Given the description of an element on the screen output the (x, y) to click on. 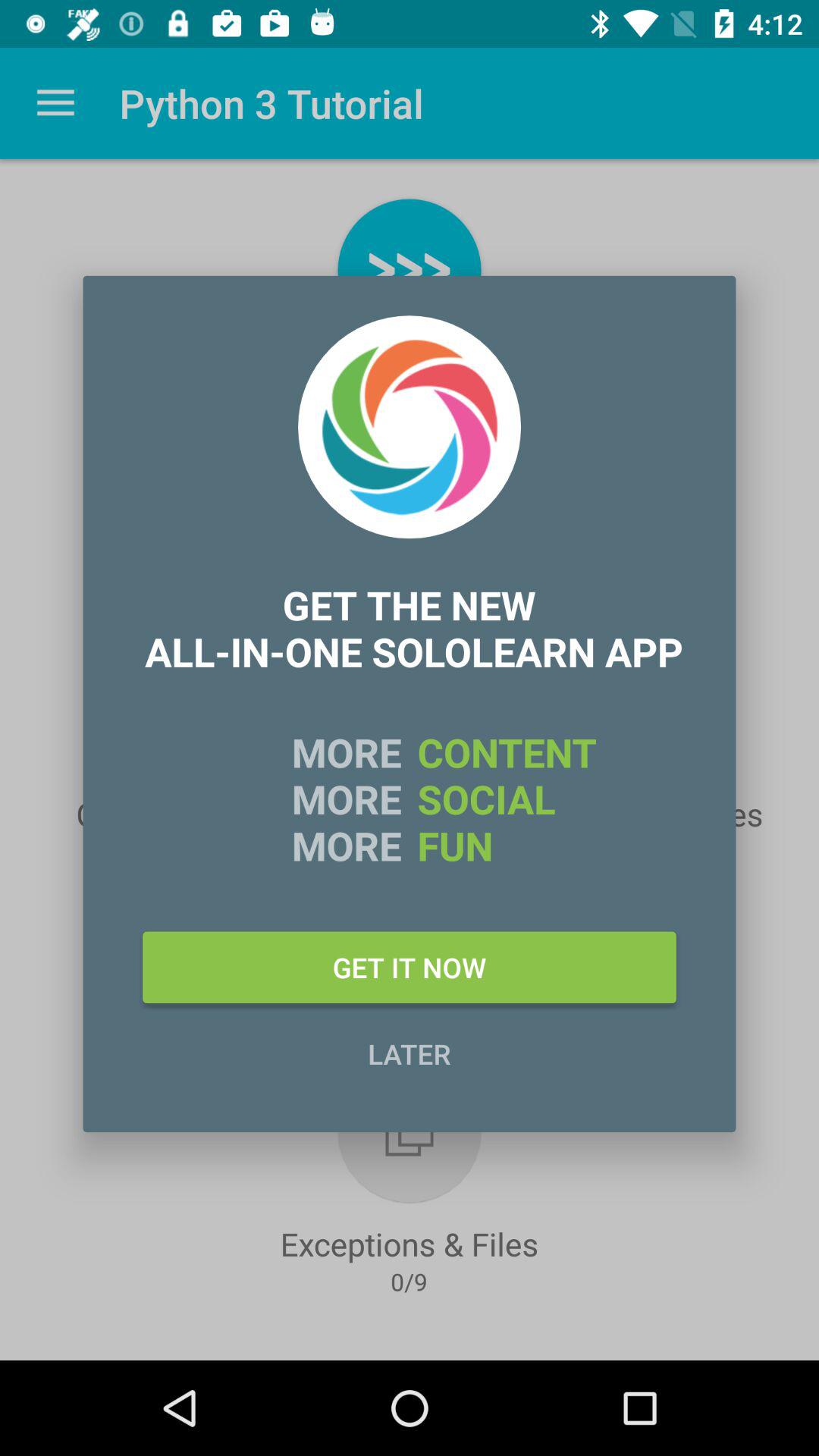
open the get it now item (409, 967)
